Given the description of an element on the screen output the (x, y) to click on. 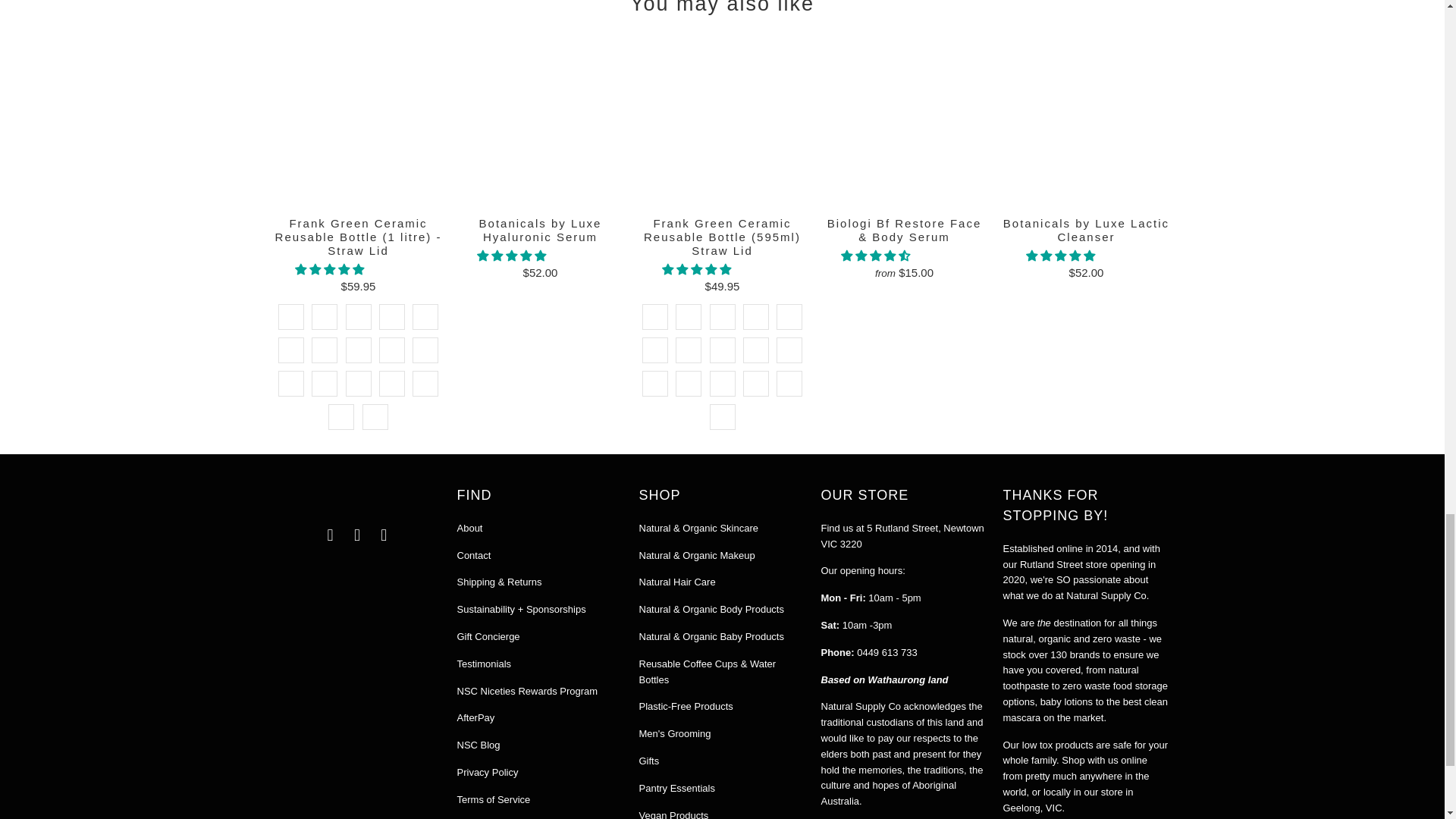
Natural Supply Co on TikTok (384, 535)
Natural Supply Co on Facebook (330, 535)
Natural Supply Co on Instagram (357, 535)
